Given the description of an element on the screen output the (x, y) to click on. 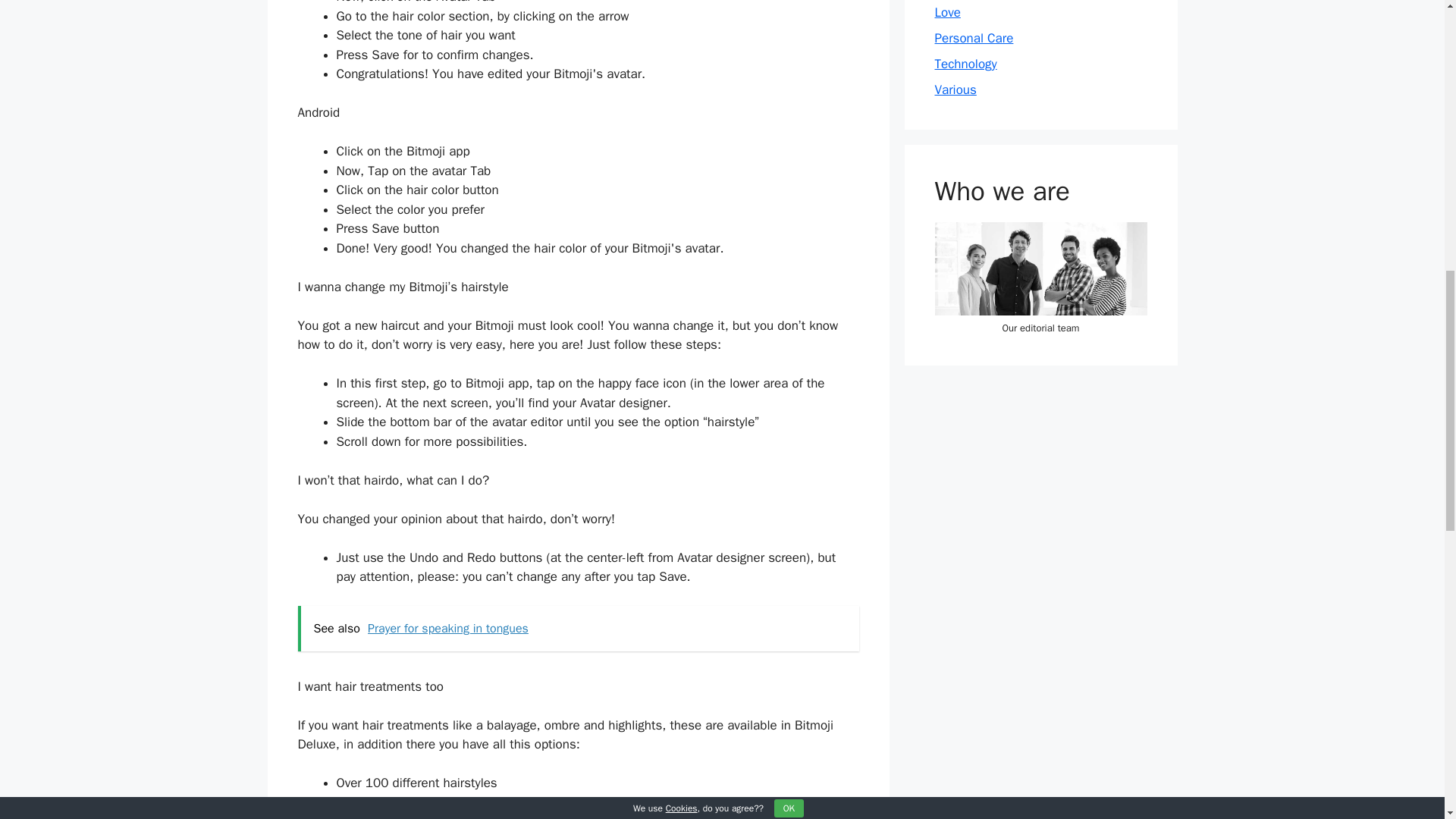
Various (954, 89)
Personal Care (973, 37)
Love (946, 12)
See also  Prayer for speaking in tongues (578, 628)
Technology (964, 64)
Who web are (1040, 268)
